Given the description of an element on the screen output the (x, y) to click on. 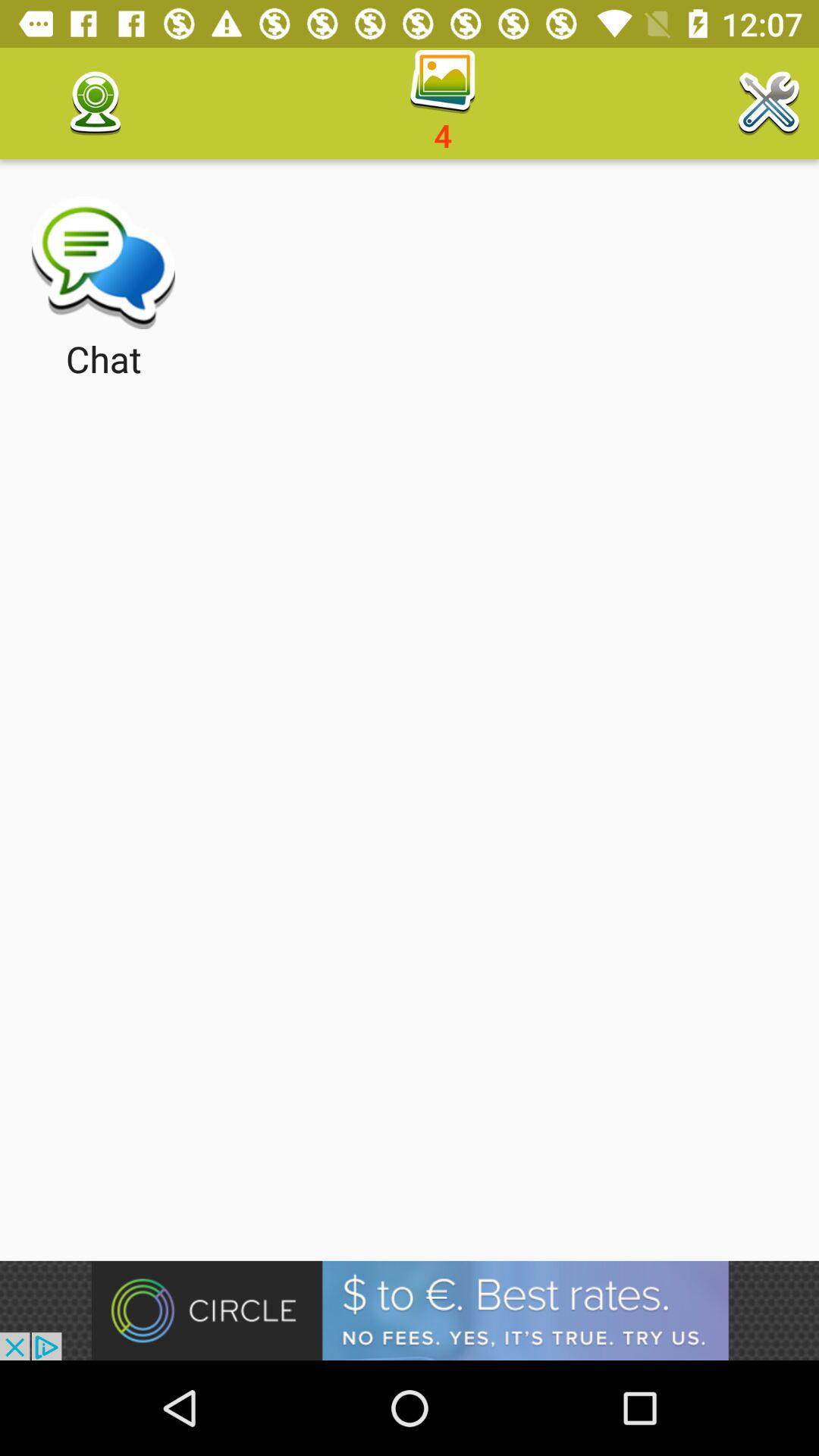
click to visit advertiser (409, 1310)
